Given the description of an element on the screen output the (x, y) to click on. 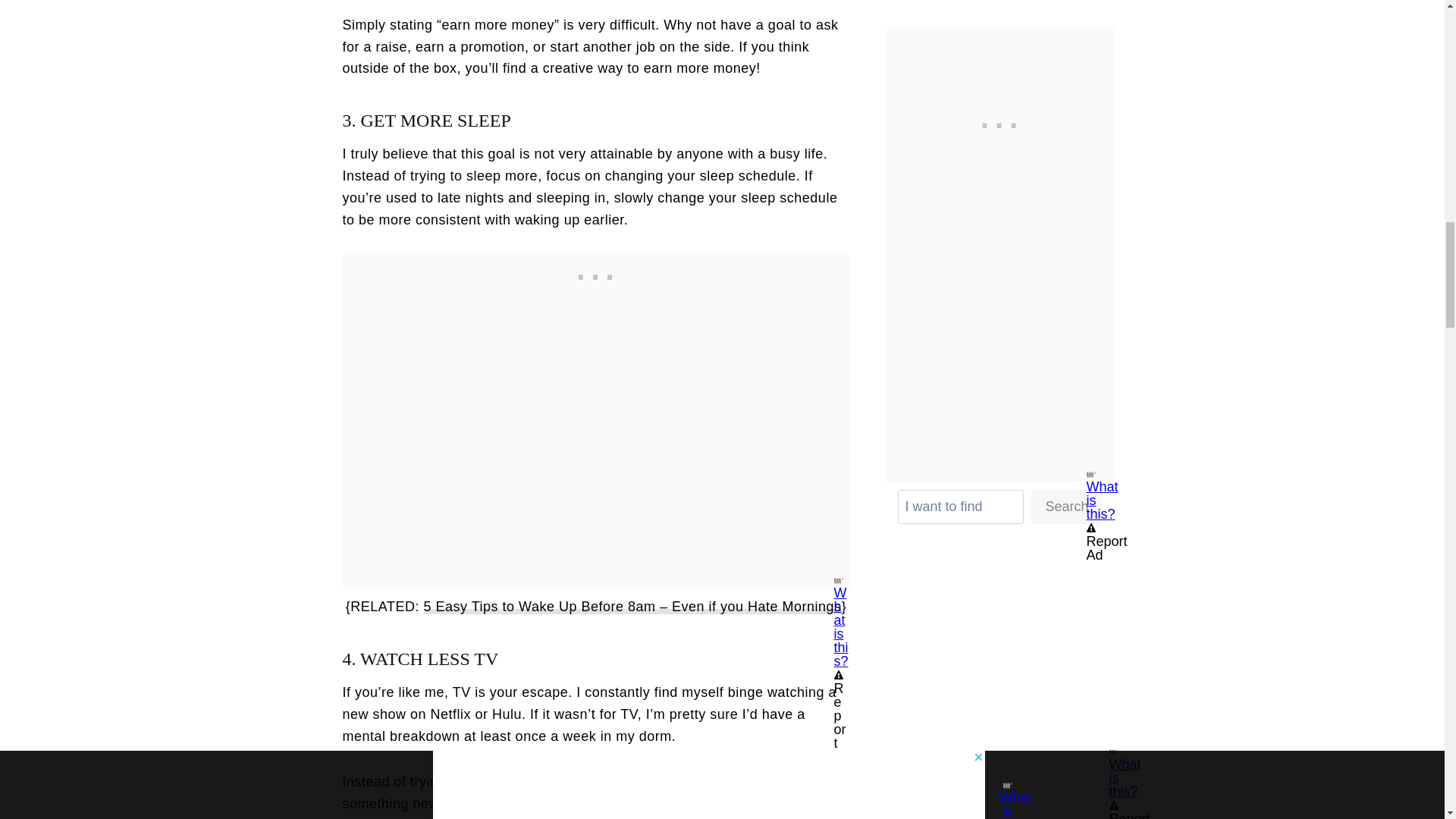
3rd party ad content (595, 273)
3rd party ad content (1011, 648)
3rd party ad content (999, 122)
